Given the description of an element on the screen output the (x, y) to click on. 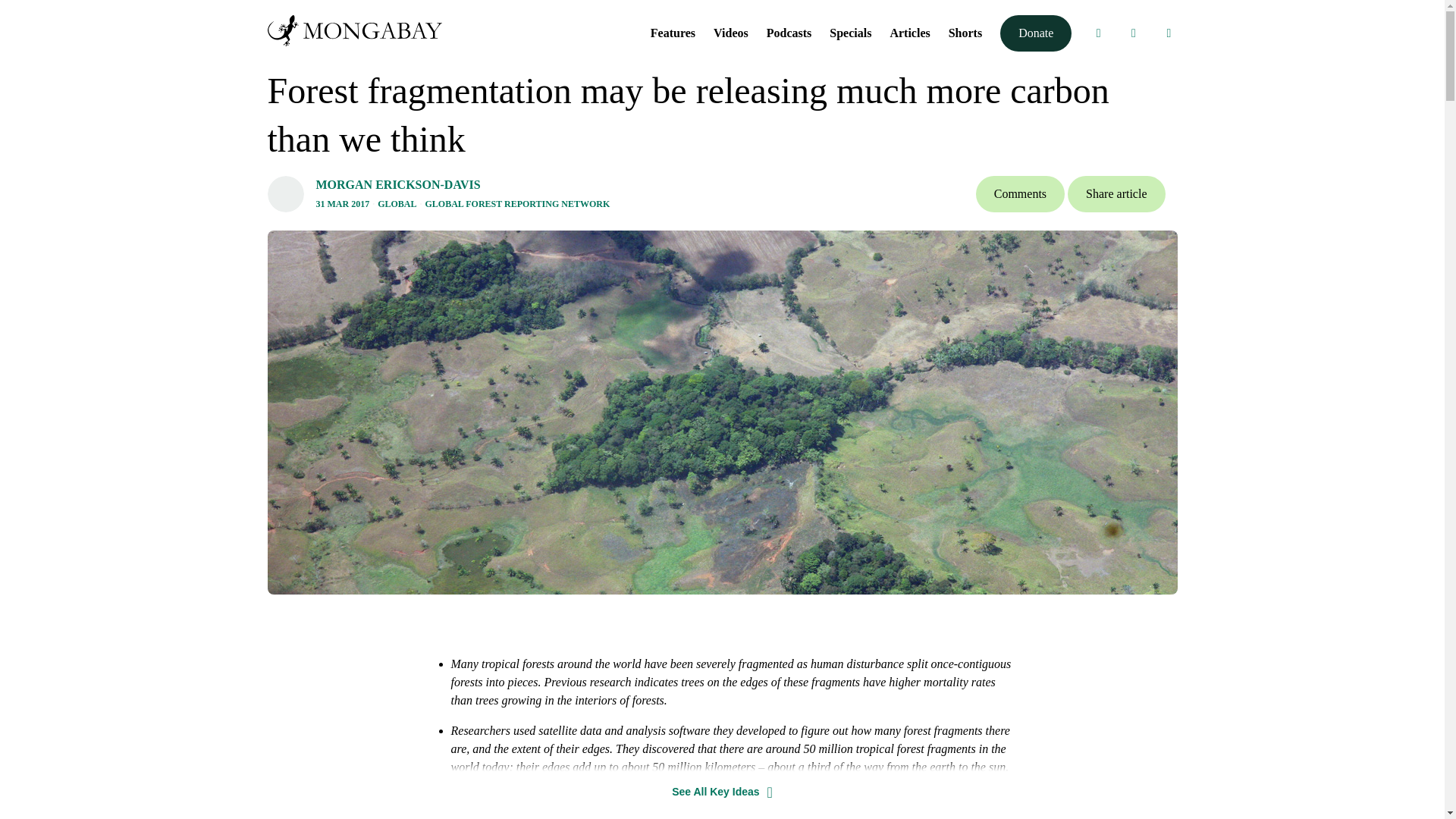
Podcasts (789, 32)
Articles (909, 32)
Videos (730, 32)
Specials (849, 32)
Features (672, 32)
Shorts (965, 32)
Donate (1035, 33)
